Given the description of an element on the screen output the (x, y) to click on. 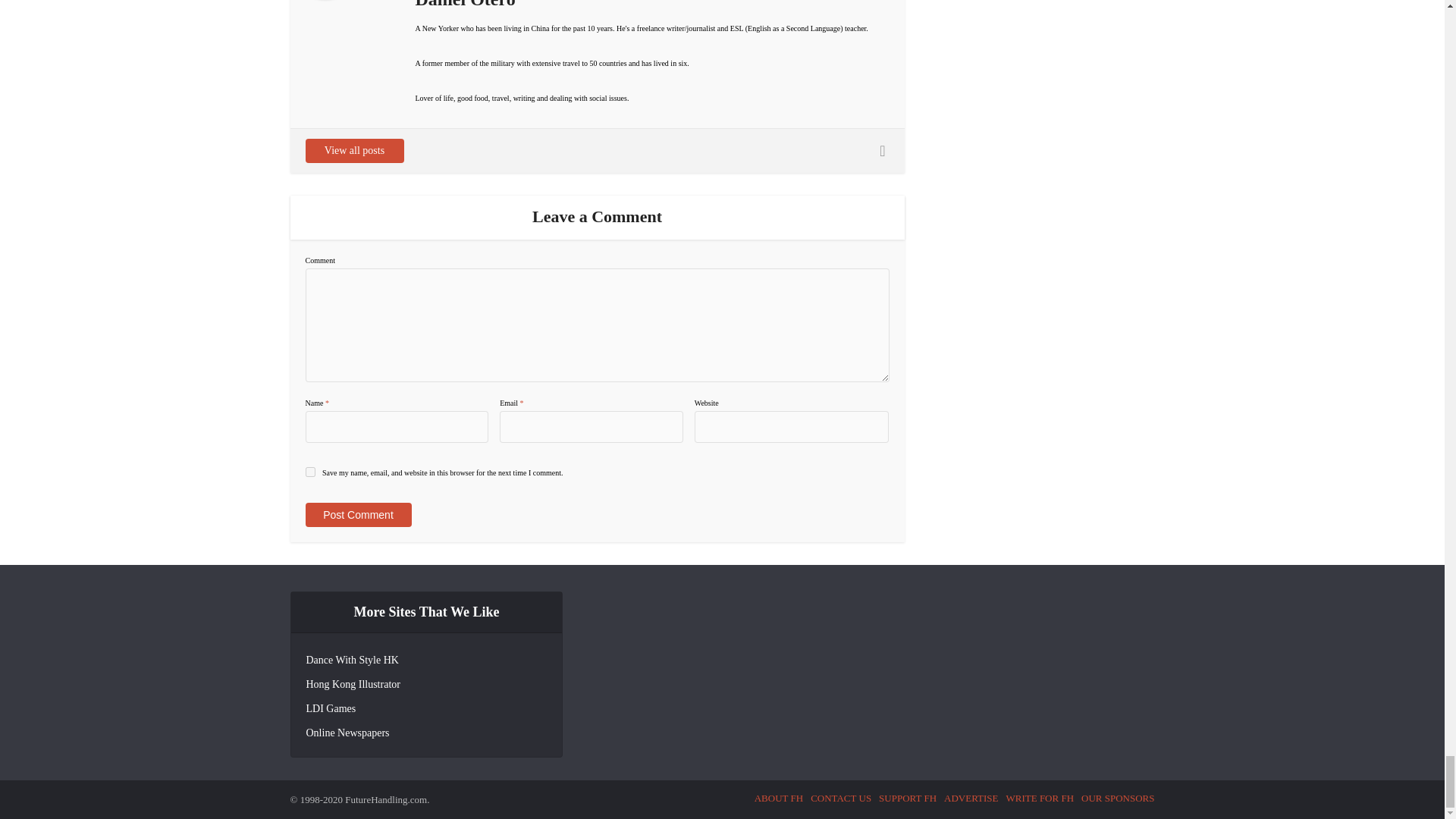
yes (309, 471)
Online Newspapers Website (347, 732)
Post Comment (357, 514)
